Given the description of an element on the screen output the (x, y) to click on. 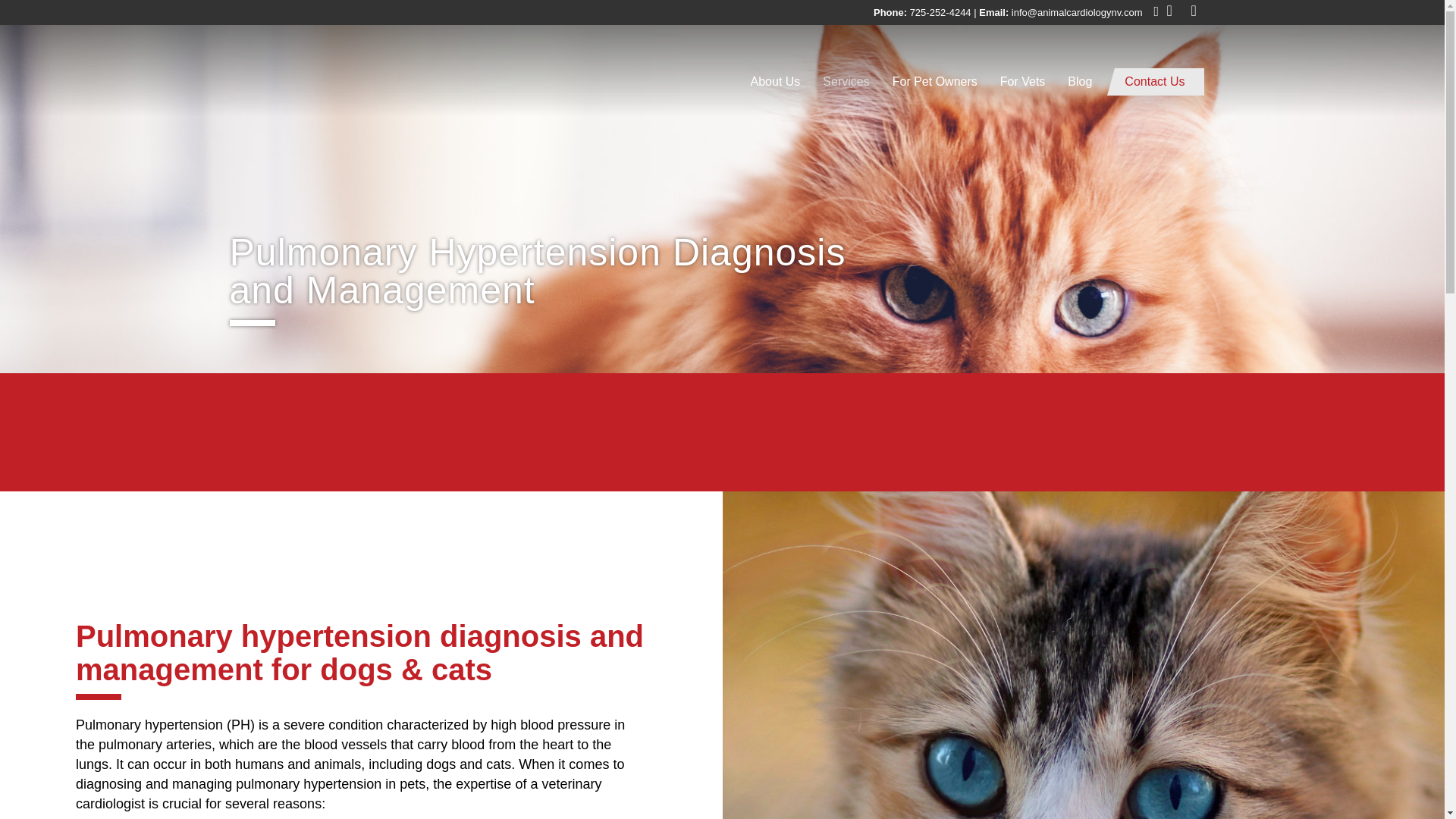
Contact Us (1158, 81)
725-252-4244 (940, 12)
For Pet Owners (934, 81)
